Given the description of an element on the screen output the (x, y) to click on. 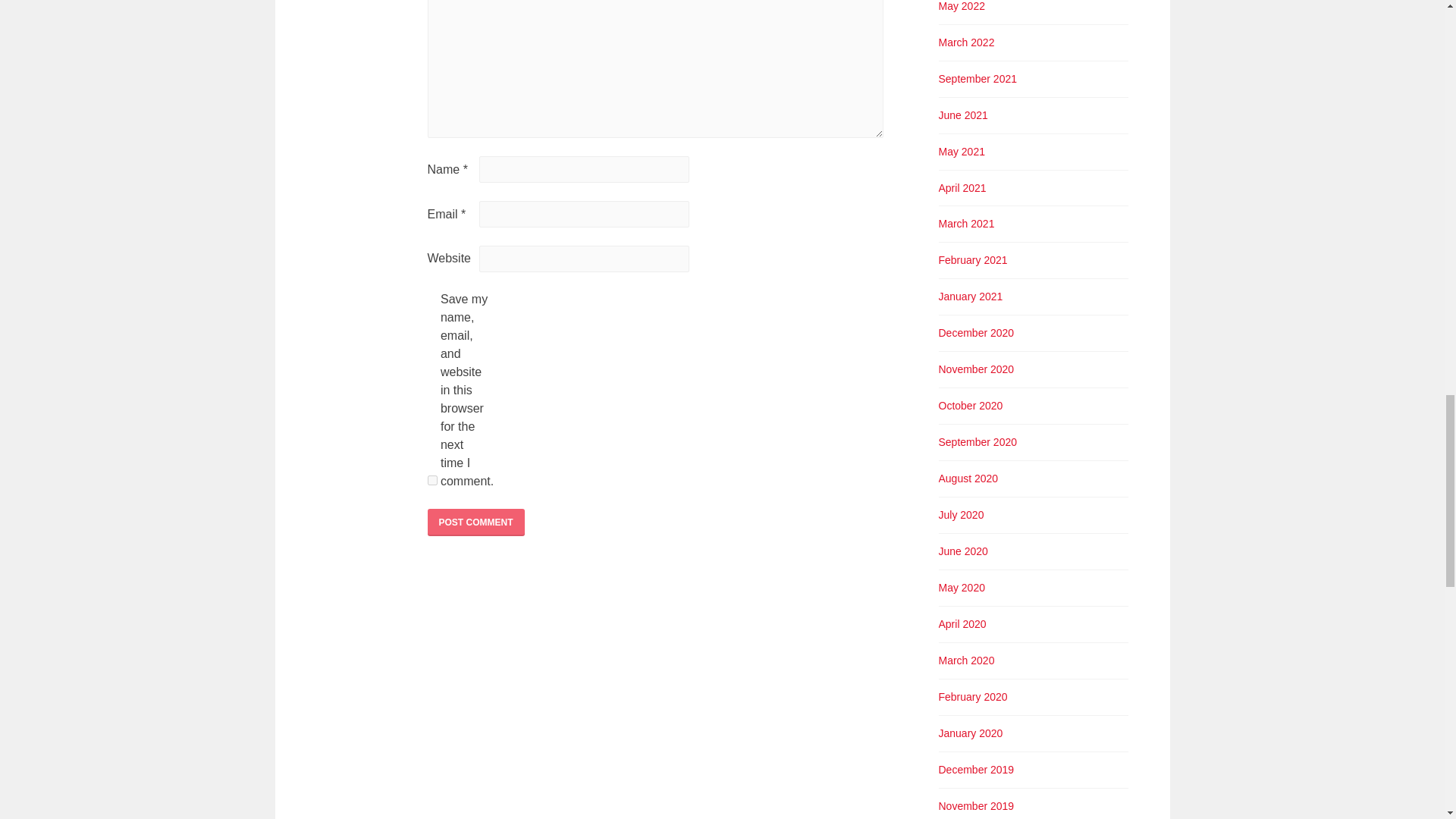
yes (433, 480)
Post Comment (476, 522)
Post Comment (476, 522)
